Given the description of an element on the screen output the (x, y) to click on. 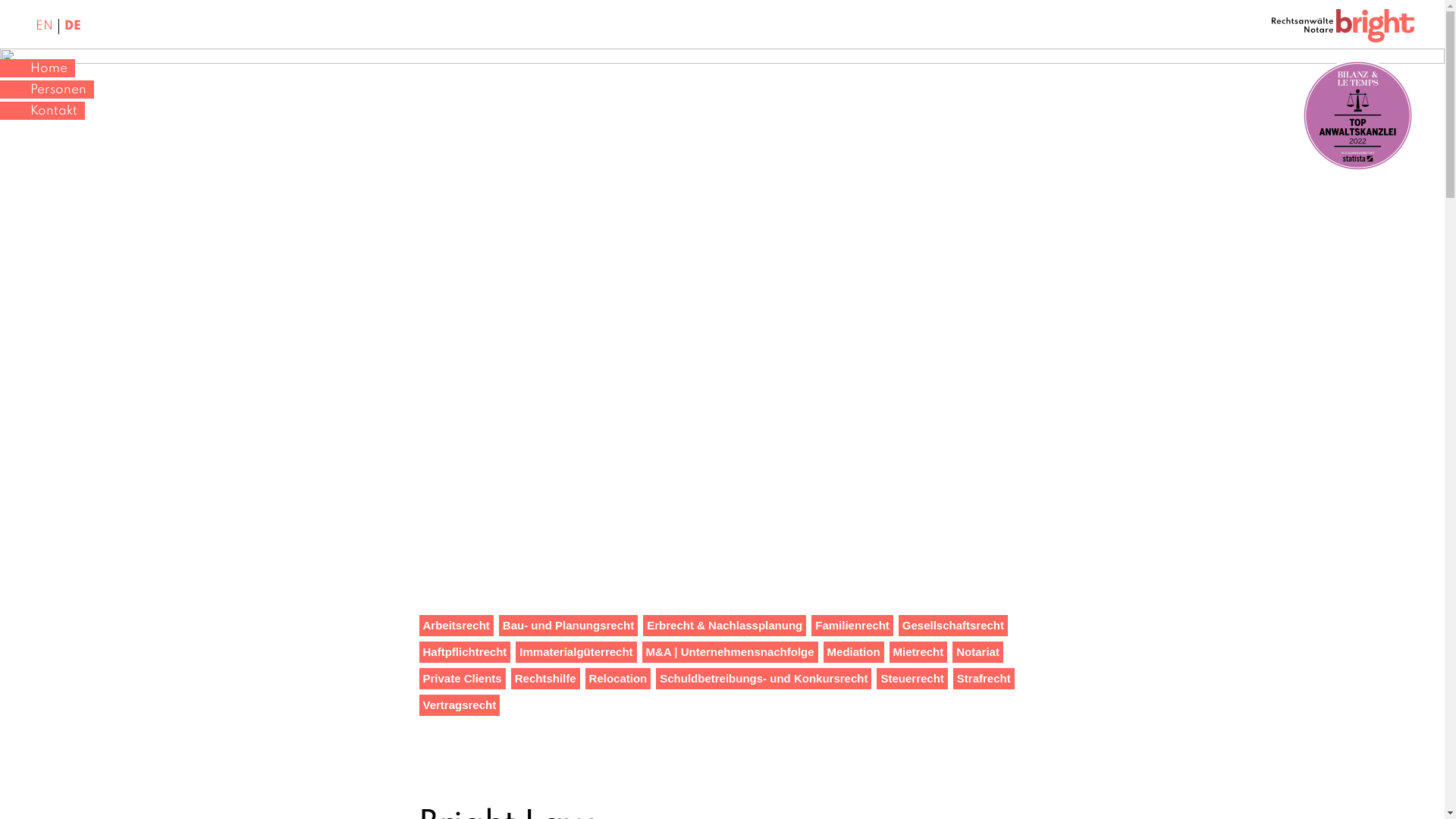
Mietrecht Element type: text (918, 651)
Kontakt Element type: text (42, 110)
Personen Element type: text (47, 89)
Bilanz Top Anwaltskanzlei 2022 Element type: hover (1357, 115)
Haftpflichtrecht Element type: text (464, 651)
Schuldbetreibungs- und Konkursrecht Element type: text (763, 678)
Steuerrecht Element type: text (911, 678)
Familienrecht Element type: text (852, 625)
Notariat Element type: text (977, 651)
Strafrecht Element type: text (983, 678)
Zur Startseite Element type: hover (1342, 28)
Rechtshilfe Element type: text (545, 678)
Arbeitsrecht Element type: text (455, 625)
Erbrecht & Nachlassplanung Element type: text (724, 625)
Gesellschaftsrecht Element type: text (952, 625)
Relocation Element type: text (618, 678)
Home Element type: text (37, 68)
EN Element type: text (44, 26)
Mediation Element type: text (853, 651)
DE Element type: text (72, 26)
Bau- und Planungsrecht Element type: text (567, 625)
Vertragsrecht Element type: text (458, 704)
M&A | Unternehmensnachfolge Element type: text (730, 651)
Private Clients Element type: text (461, 678)
